Given the description of an element on the screen output the (x, y) to click on. 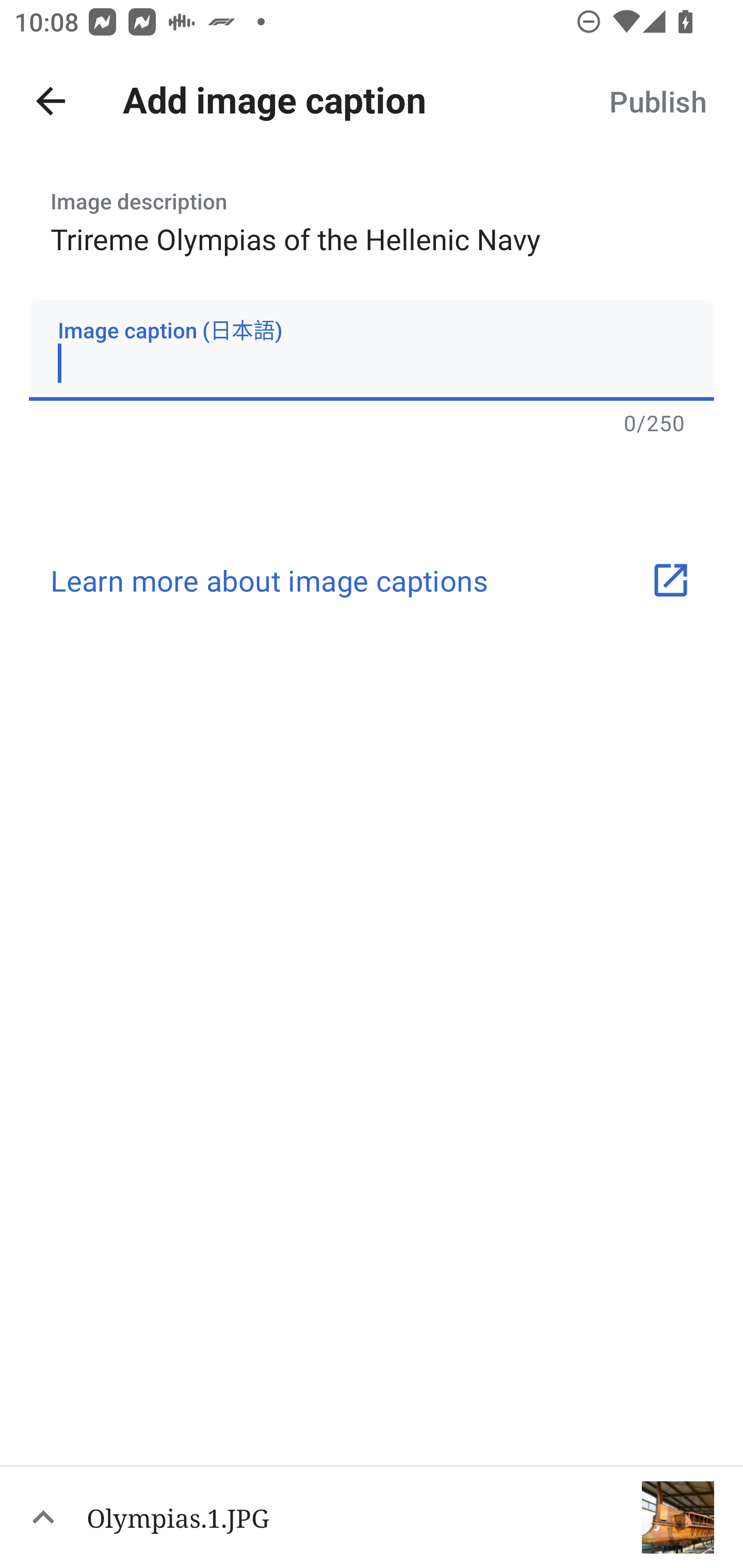
Cancel (50, 101)
Publish (657, 101)
Image caption (日本語) (371, 350)
Learn more about image captions (371, 580)
Olympias.1.JPG (371, 1516)
